Given the description of an element on the screen output the (x, y) to click on. 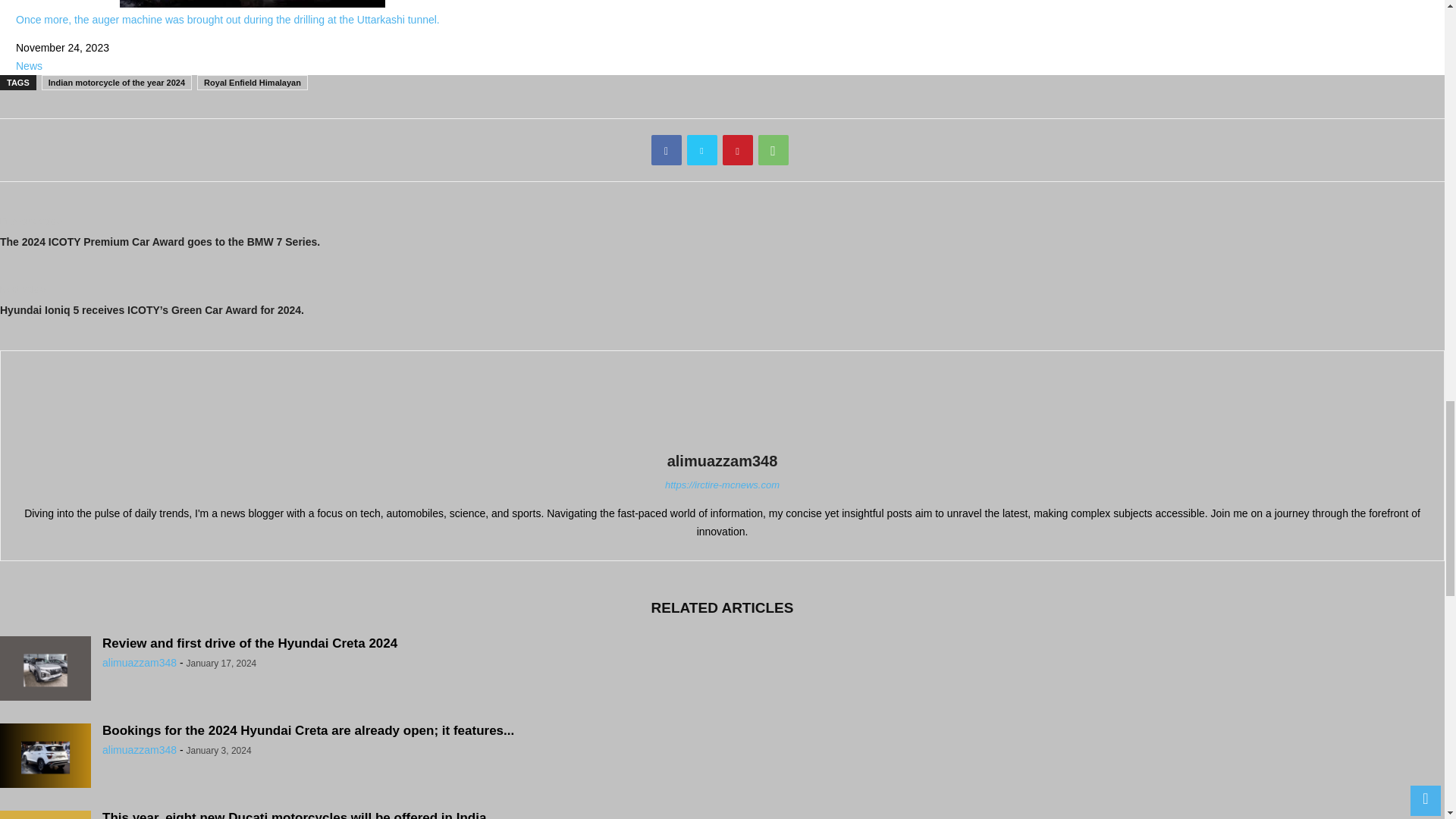
Review and first drive of the Hyundai Creta 2024 (249, 643)
Facebook (665, 150)
alimuazzam348 (138, 749)
Royal Enfield Himalayan (251, 82)
alimuazzam348 (138, 662)
Indian motorcycle of the year 2024 (117, 82)
News (29, 65)
WhatsApp (773, 150)
Pinterest (737, 150)
alimuazzam348 (721, 460)
Review and first drive of the Hyundai Creta 2024 (45, 670)
Twitter (702, 150)
